Given the description of an element on the screen output the (x, y) to click on. 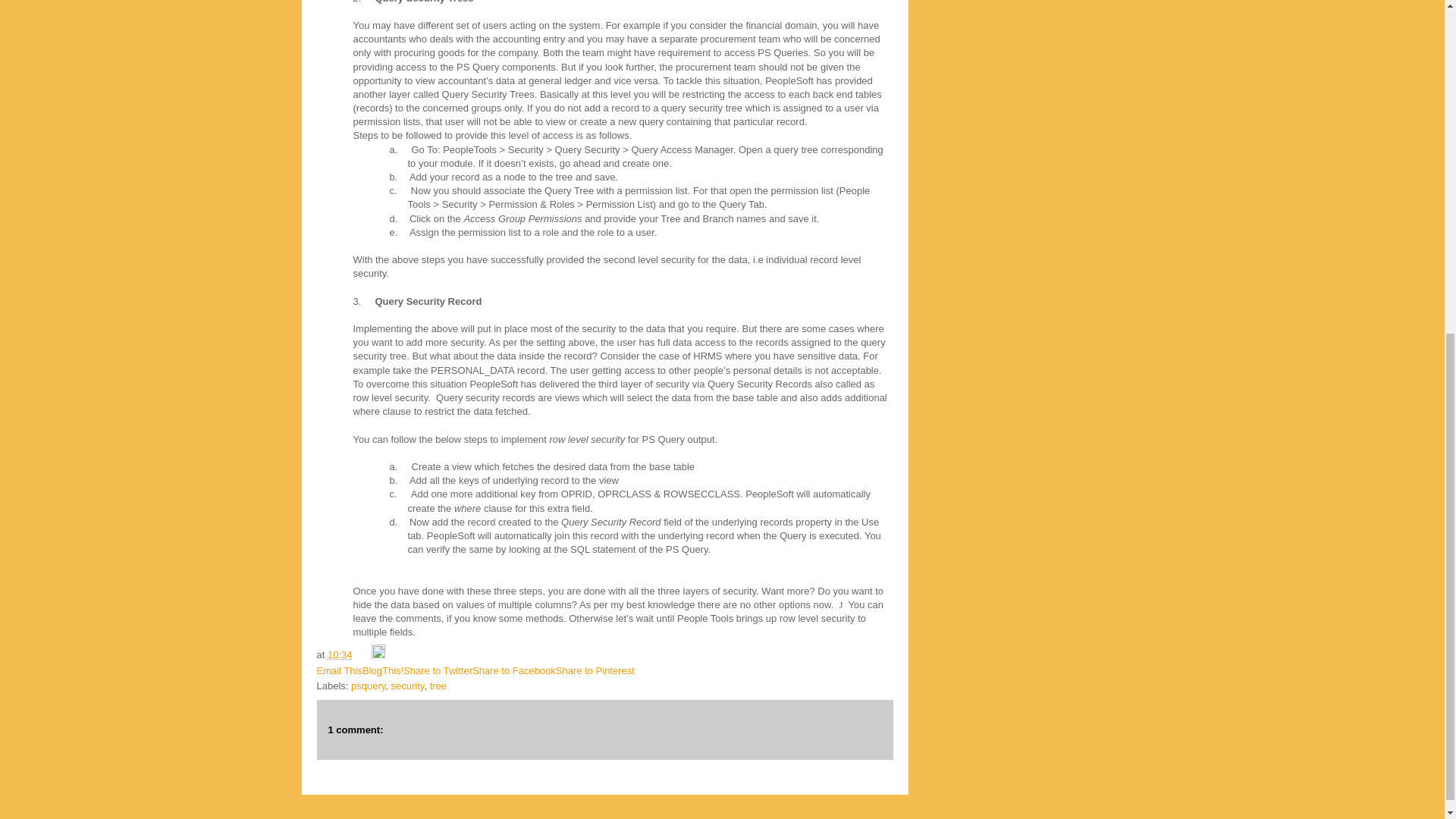
Email This (339, 670)
permanent link (339, 654)
Share to Pinterest (595, 670)
security (408, 685)
Share to Pinterest (595, 670)
BlogThis! (382, 670)
Share to Twitter (437, 670)
Email This (339, 670)
Share to Facebook (513, 670)
psquery (367, 685)
